Given the description of an element on the screen output the (x, y) to click on. 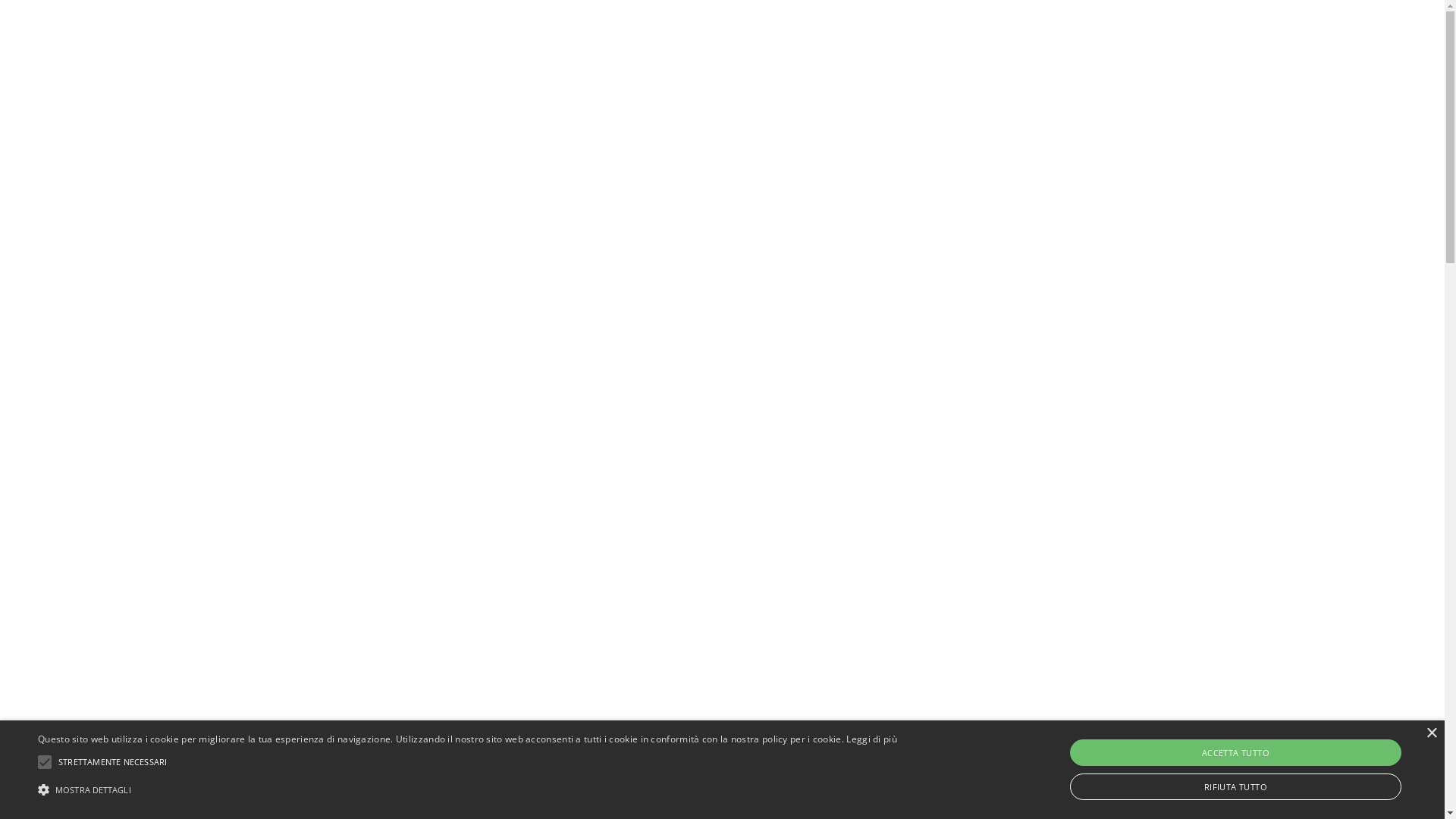
About Element type: text (624, 37)
Research Lab Element type: text (700, 37)
Team Element type: text (826, 37)
Tools Element type: text (774, 37)
Contacts Element type: text (889, 37)
